Given the description of an element on the screen output the (x, y) to click on. 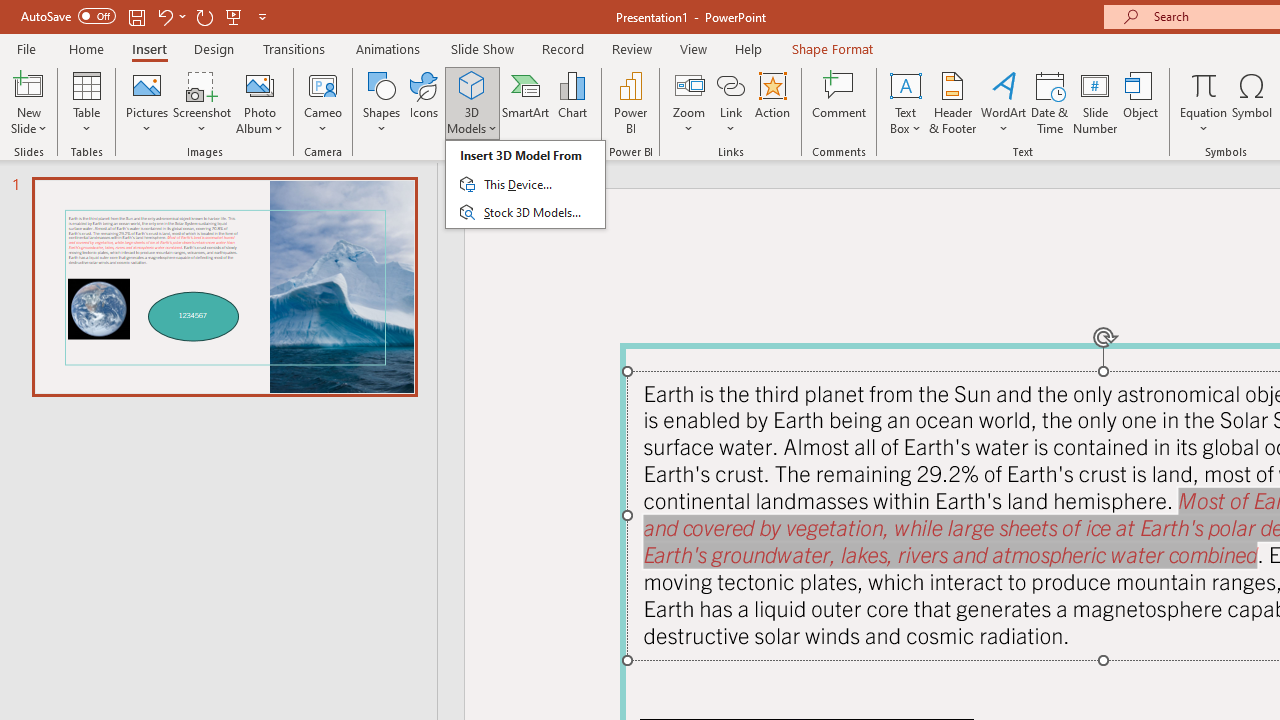
Header & Footer... (952, 102)
SmartArt... (525, 102)
Chart... (572, 102)
Action (772, 102)
Object... (1141, 102)
Draw Horizontal Text Box (905, 84)
